Given the description of an element on the screen output the (x, y) to click on. 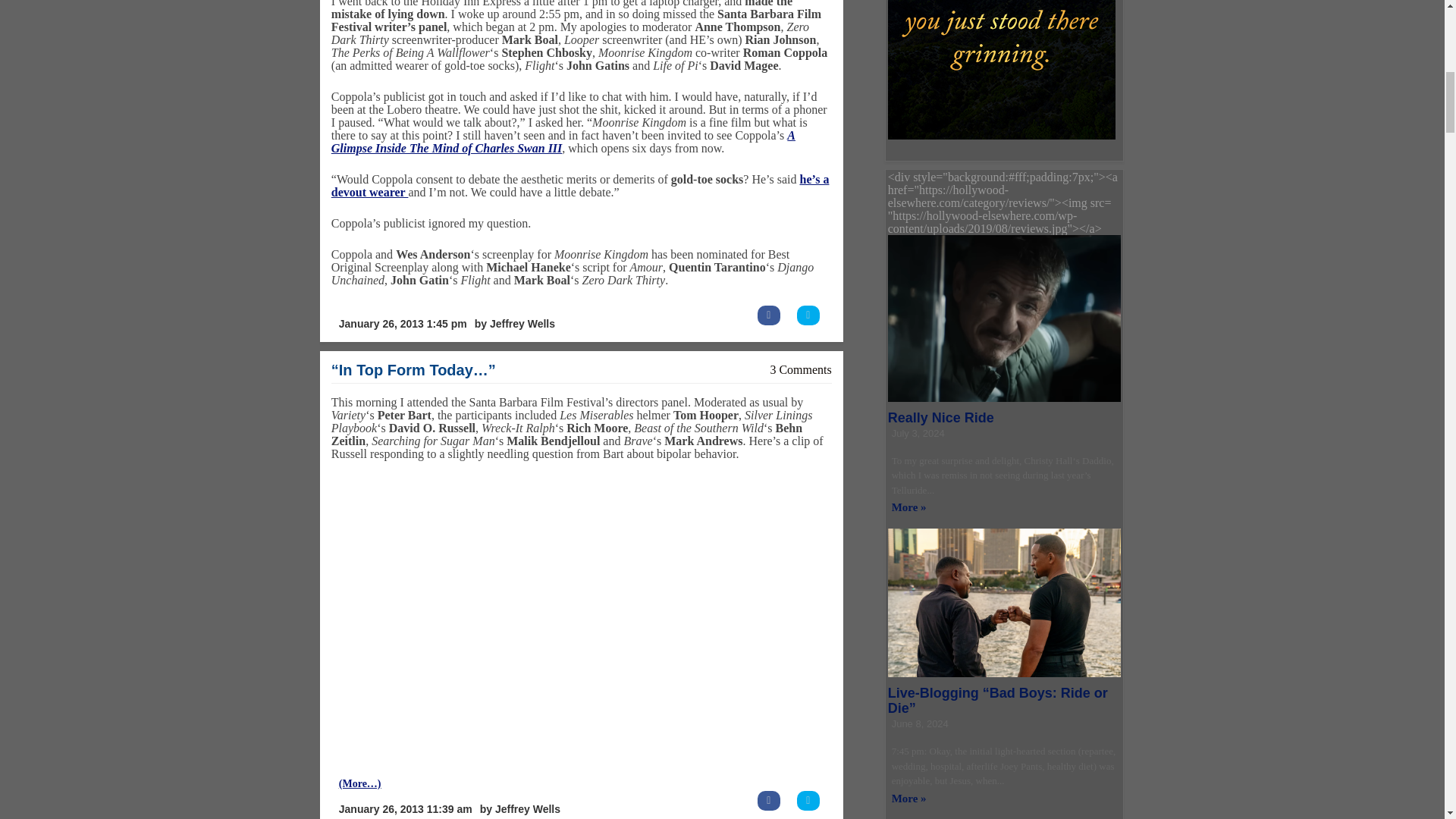
A Glimpse Inside The Mind of Charles Swan III (562, 141)
January 26, 2013 1:45 pm (402, 323)
by Jeffrey Wells (514, 323)
3 Comments (800, 369)
